Given the description of an element on the screen output the (x, y) to click on. 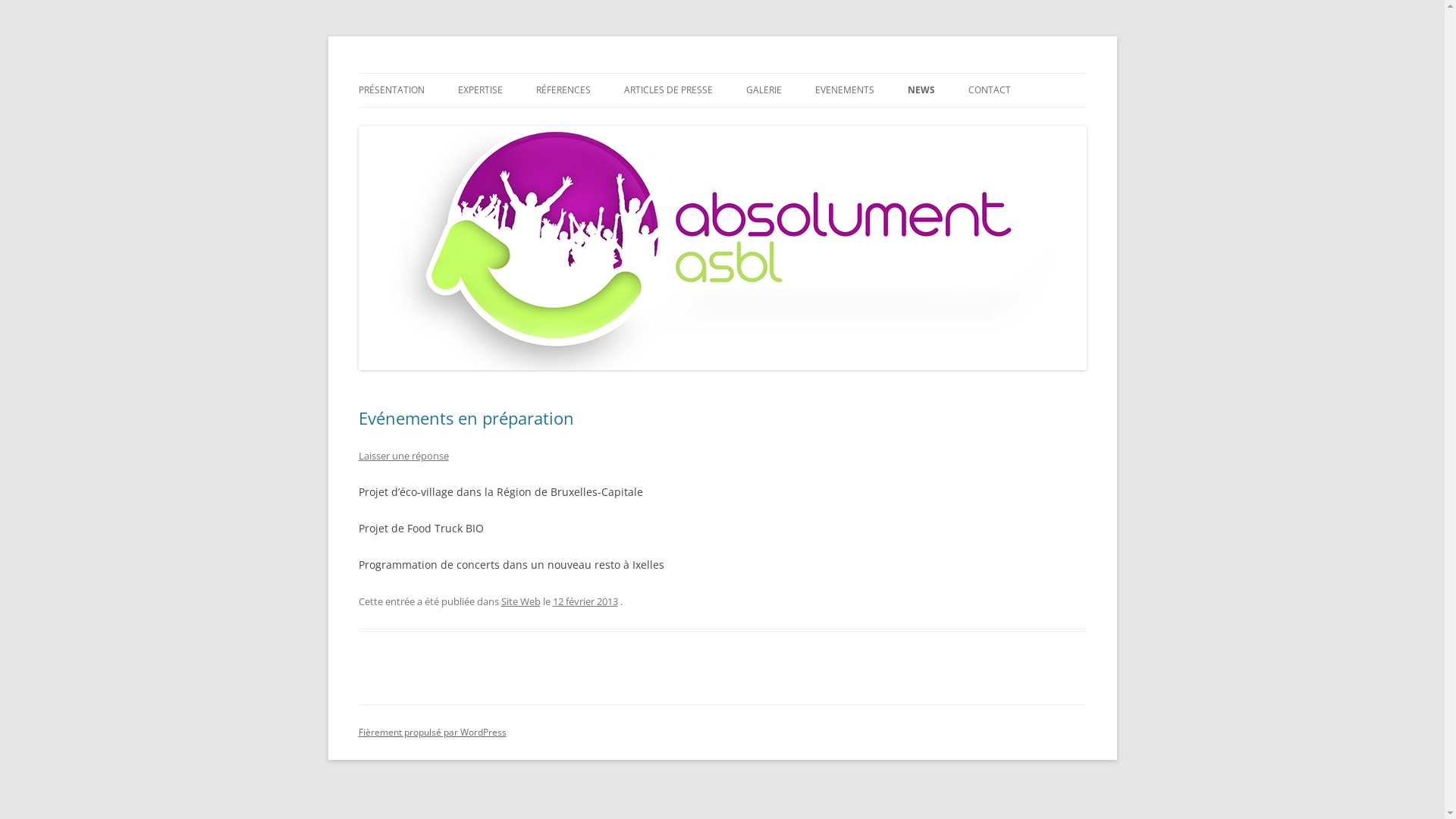
GALERIE Element type: text (763, 89)
ARTICLES DE PRESSE Element type: text (667, 89)
Site Web Element type: text (519, 601)
EVENEMENTS Element type: text (843, 89)
Aller au contenu principal Element type: text (787, 77)
EXPERTISE Element type: text (480, 89)
NEWS Element type: text (920, 89)
CONTACT Element type: text (988, 89)
Absolument ! Element type: text (422, 72)
